Given the description of an element on the screen output the (x, y) to click on. 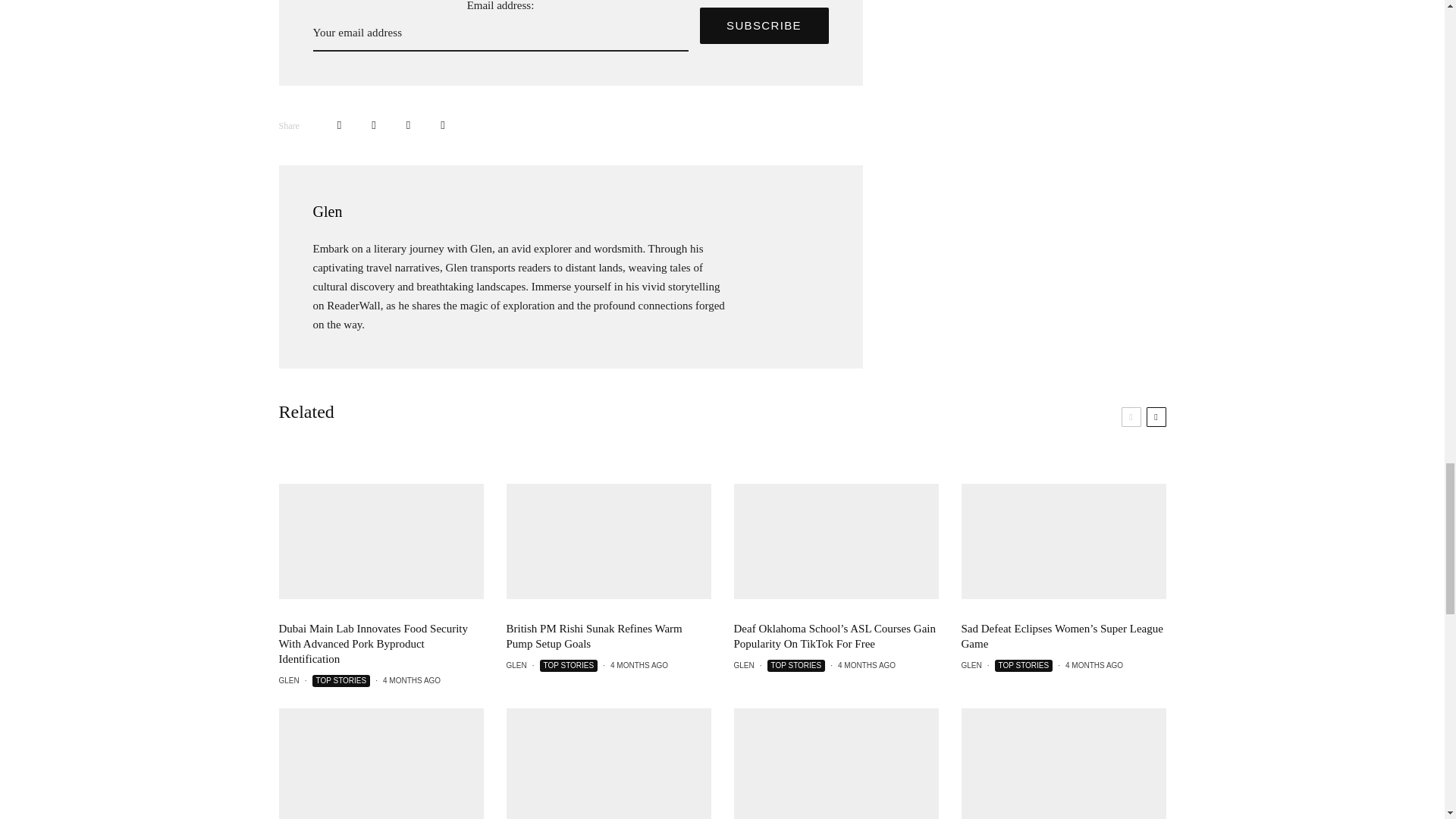
subscribe (763, 25)
